Given the description of an element on the screen output the (x, y) to click on. 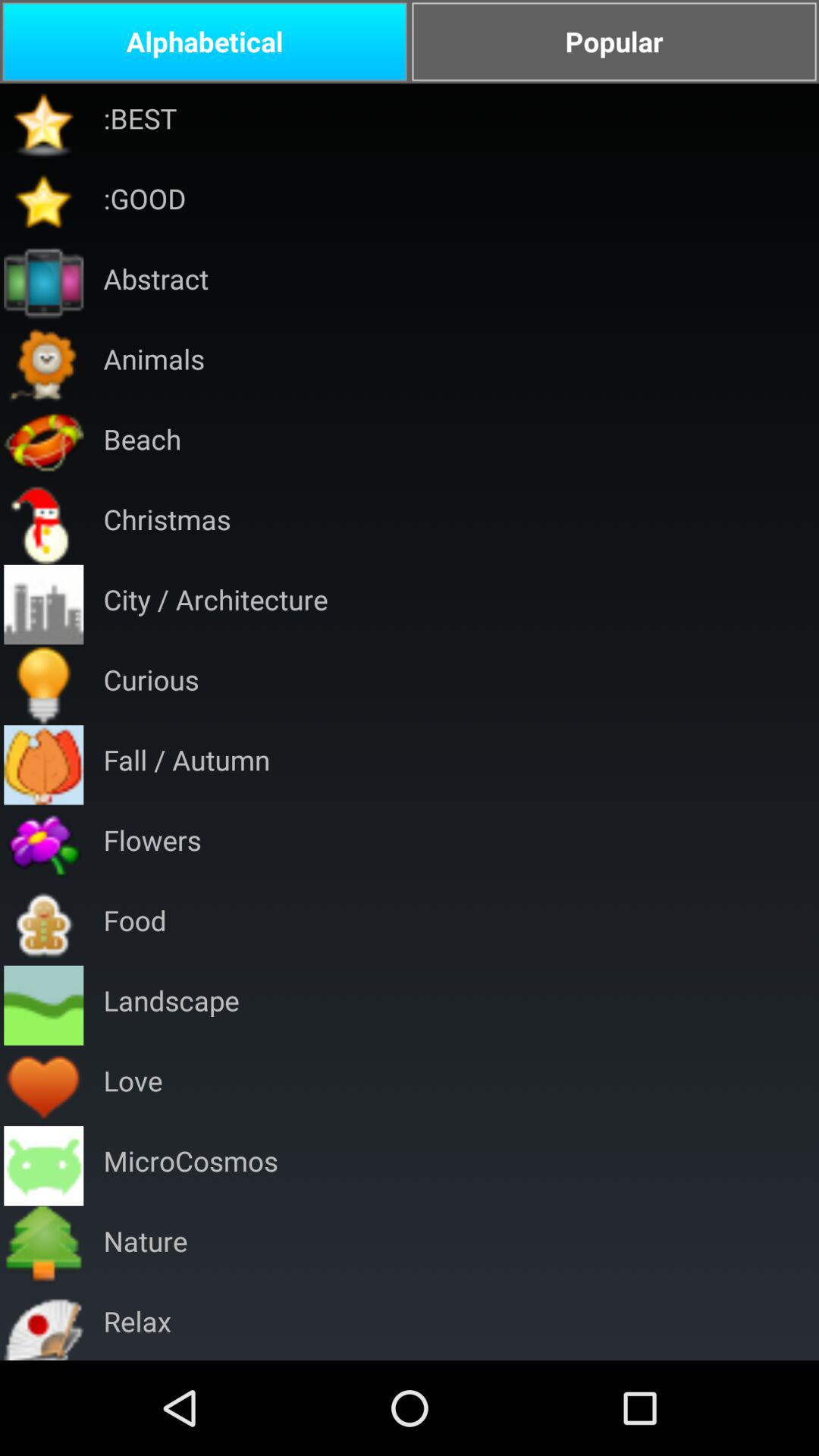
flip until the christmas app (166, 524)
